Given the description of an element on the screen output the (x, y) to click on. 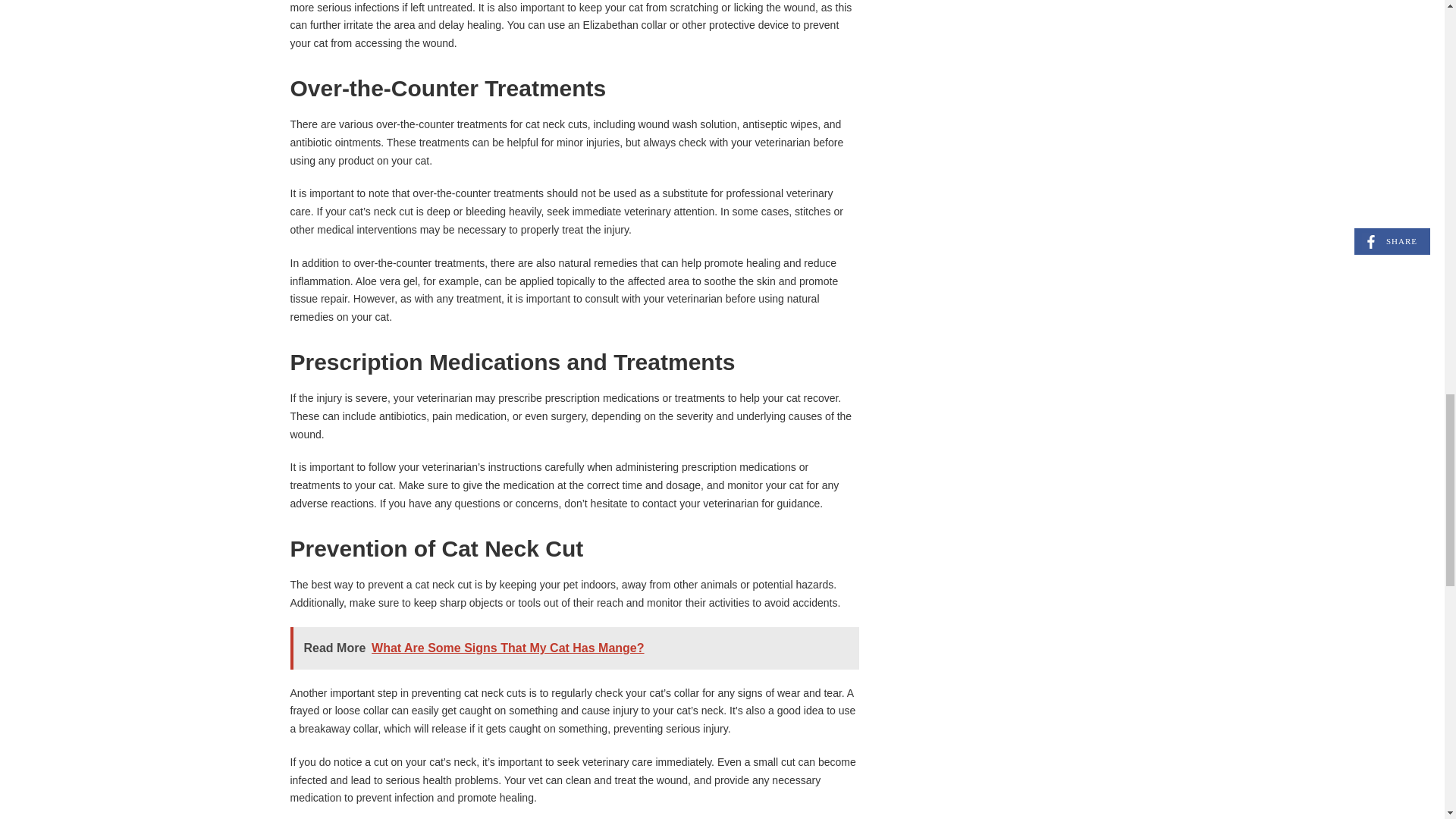
Read More  What Are Some Signs That My Cat Has Mange? (574, 648)
